Given the description of an element on the screen output the (x, y) to click on. 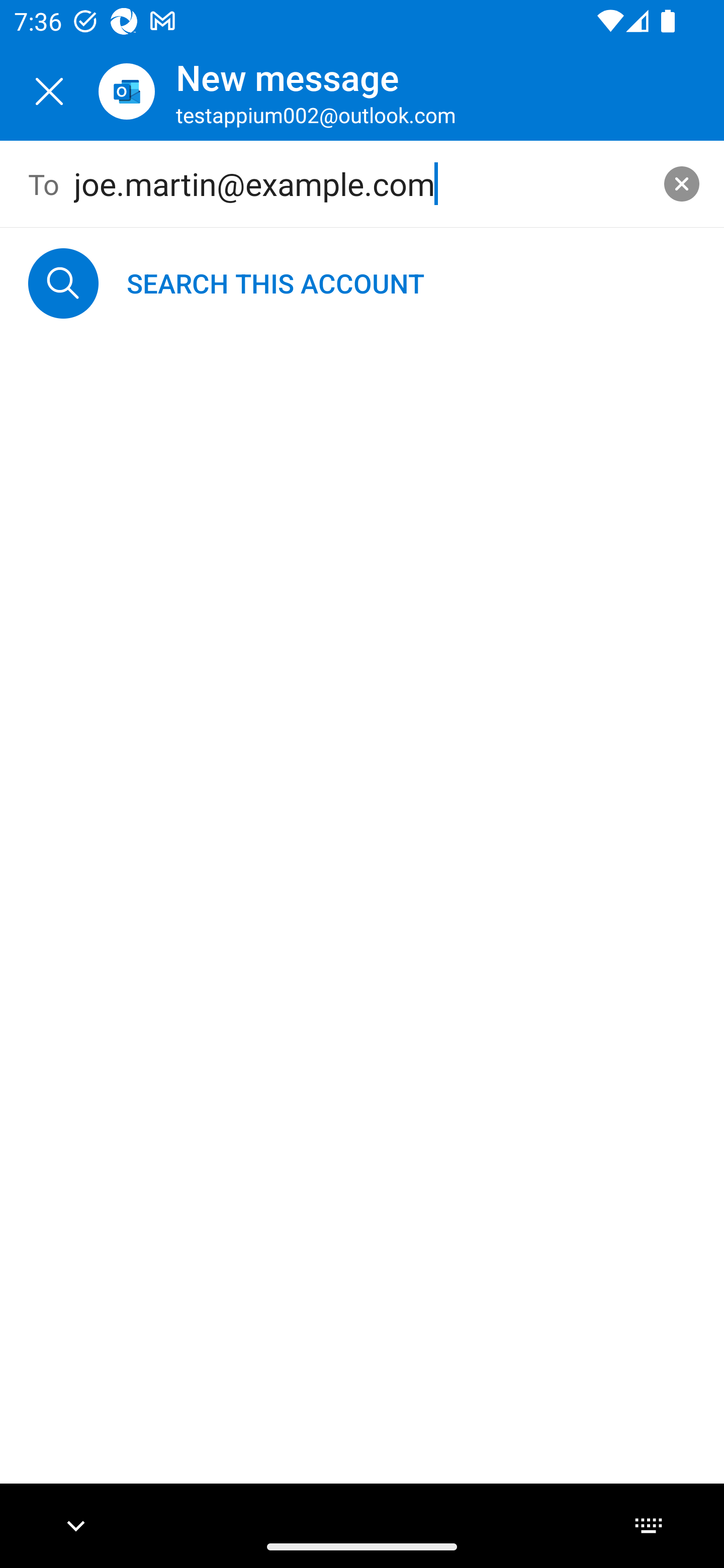
Close (49, 91)
joe.martin@example.com (362, 184)
clear search (681, 183)
